Given the description of an element on the screen output the (x, y) to click on. 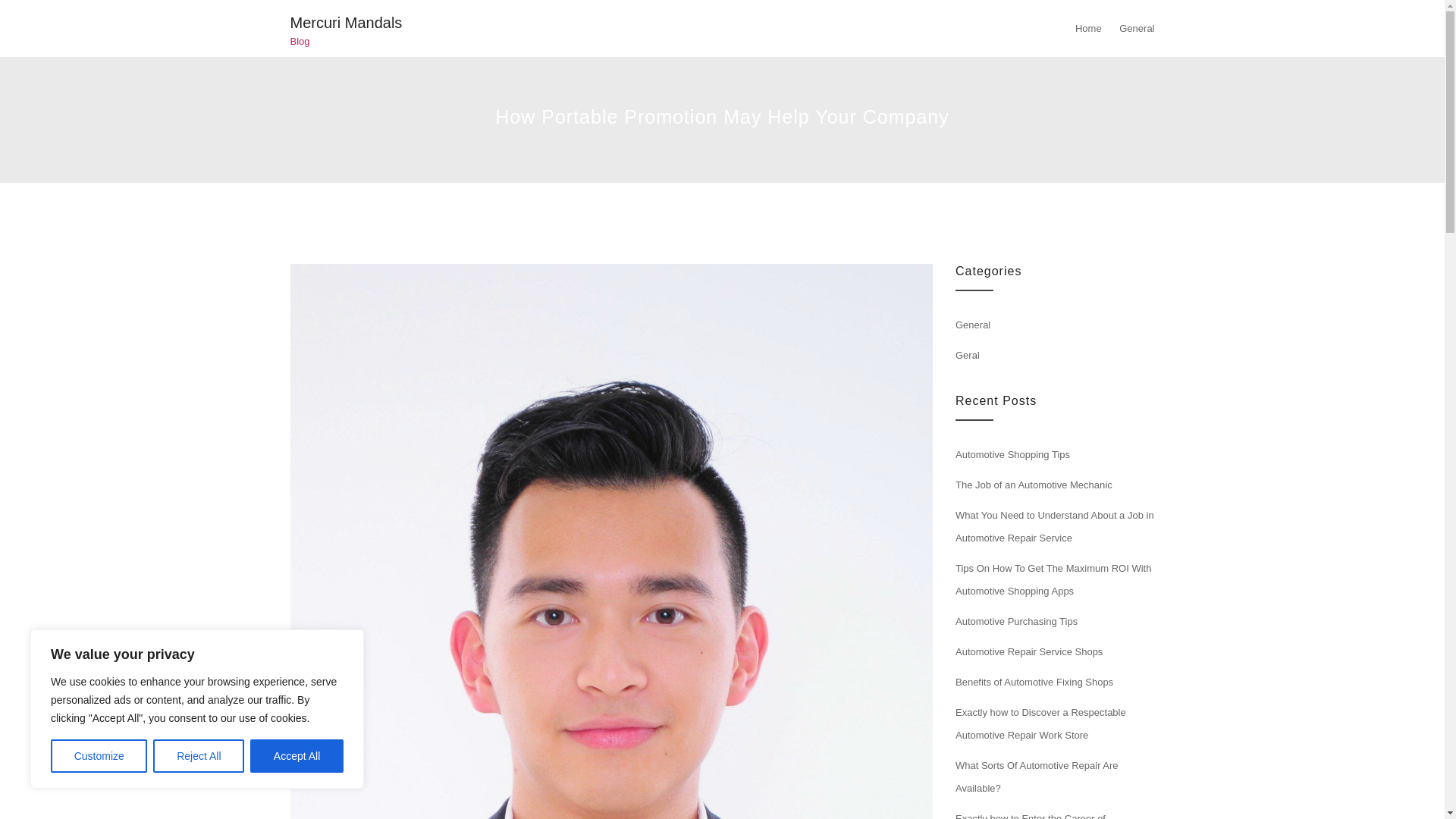
Automotive Purchasing Tips (1016, 621)
Benefits of Automotive Fixing Shops (1034, 681)
Reject All (198, 756)
The Job of an Automotive Mechanic (1033, 484)
Customize (98, 756)
Automotive Shopping Tips (1012, 454)
Geral (967, 355)
Automotive Repair Service Shops (1028, 651)
General (972, 324)
Mercuri Mandals (345, 22)
Accept All (296, 756)
